Given the description of an element on the screen output the (x, y) to click on. 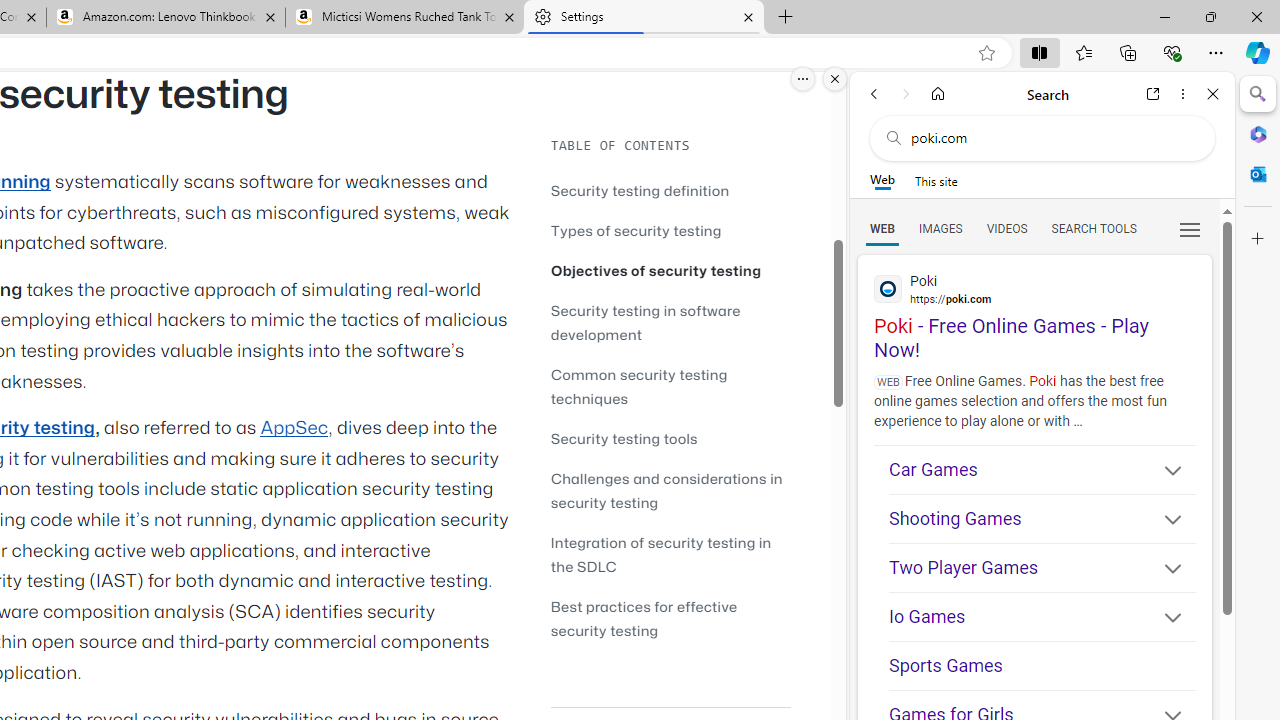
Close split screen. (835, 79)
Security testing tools (623, 438)
Show More Io Games (1164, 619)
Common security testing techniques (670, 386)
Security testing tools (670, 438)
Show More Shooting Games (1164, 521)
Car Games (1042, 470)
Global web icon (888, 288)
Class: b_serphb (1190, 229)
Open link in new tab (1153, 93)
Types of security testing (670, 230)
